Given the description of an element on the screen output the (x, y) to click on. 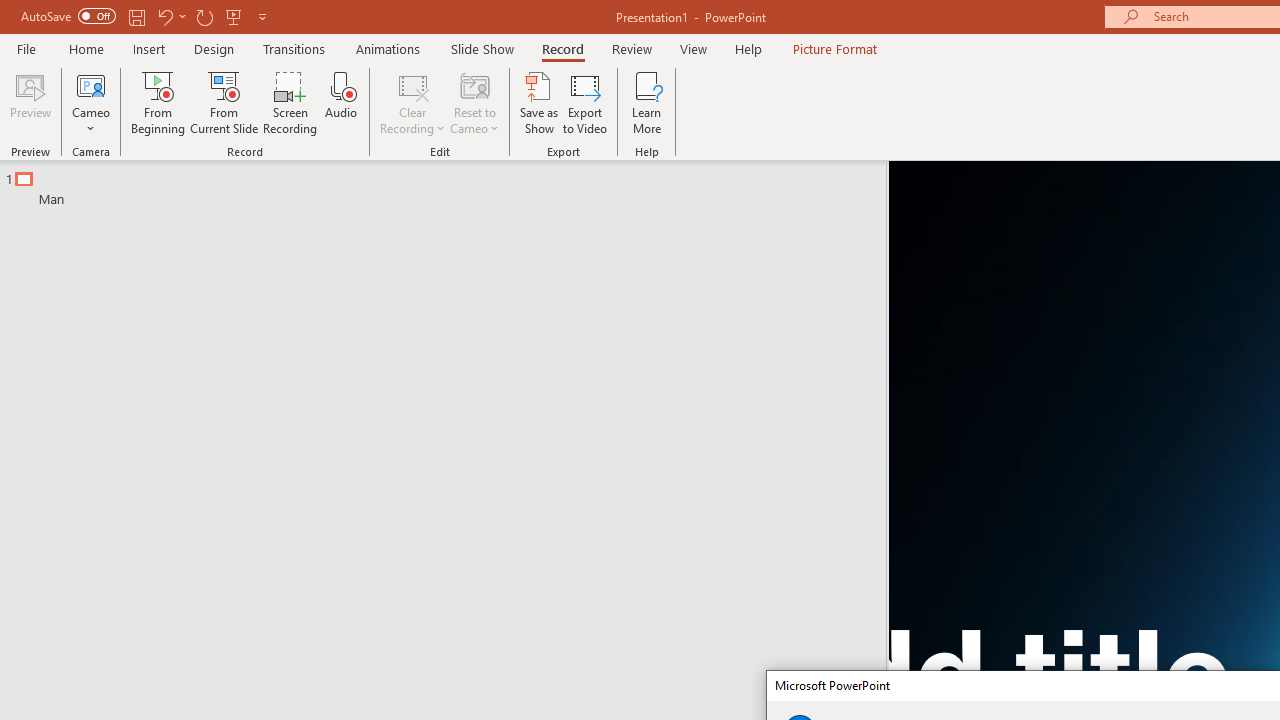
Picture Format (834, 48)
